Given the description of an element on the screen output the (x, y) to click on. 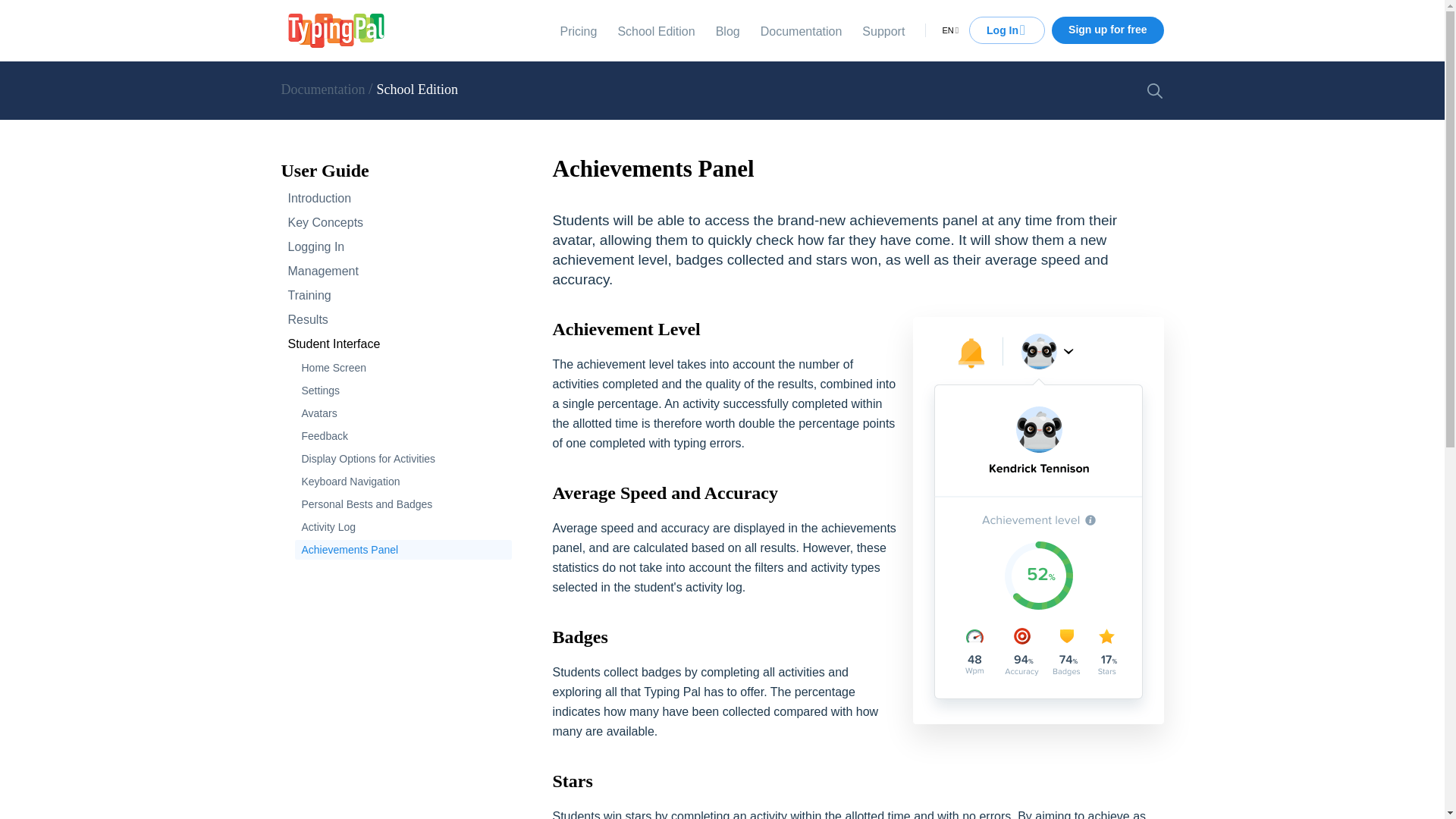
School Edition (417, 89)
Pricing (577, 30)
Logging In (396, 246)
Log In (1007, 30)
Documentation (801, 30)
Management (396, 271)
Key Concepts (396, 222)
Support (882, 30)
EN (947, 30)
Introduction (396, 198)
